Given the description of an element on the screen output the (x, y) to click on. 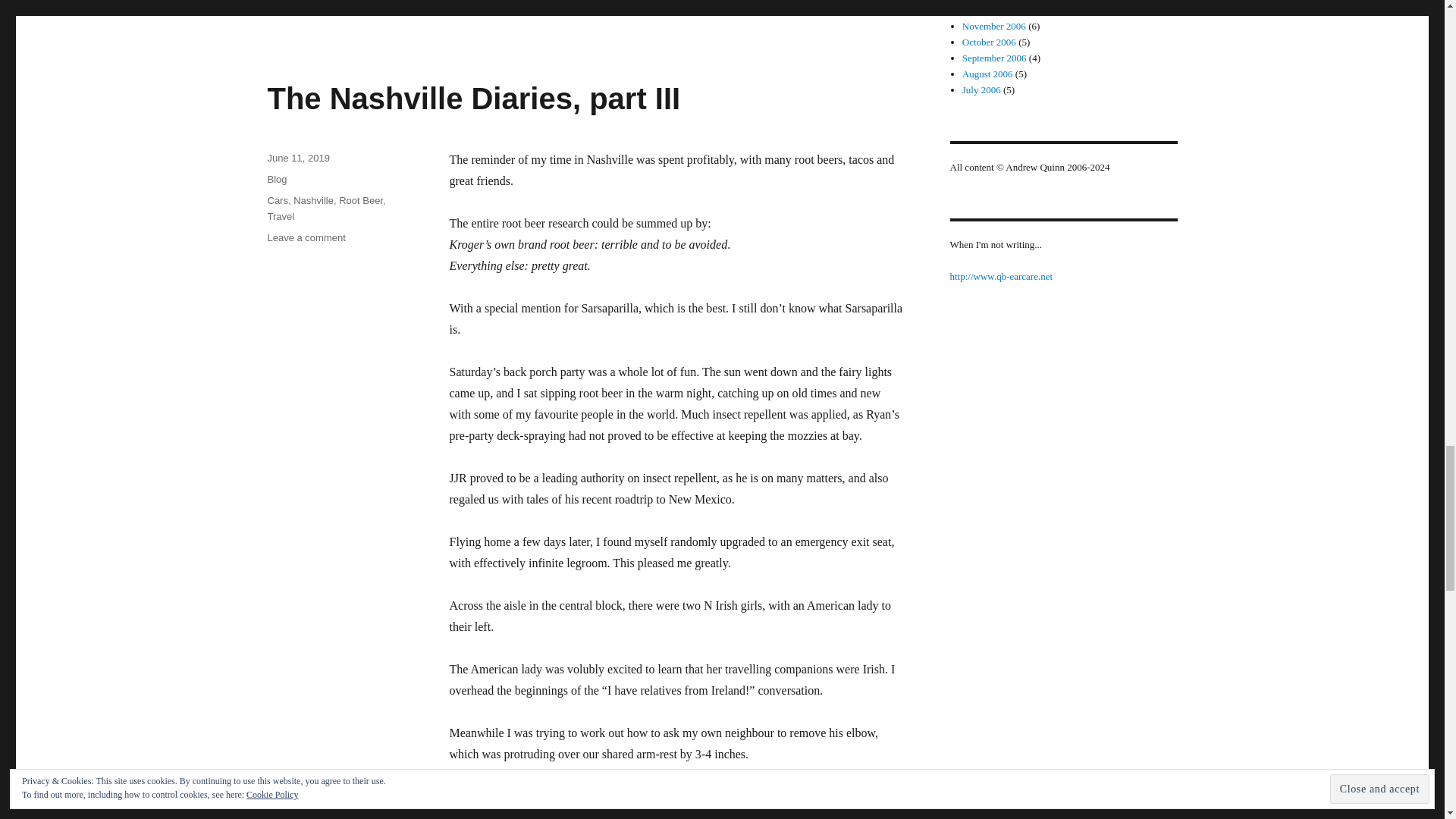
Cars (276, 200)
Root Beer (360, 200)
Travel (280, 215)
June 11, 2019 (297, 157)
The Nashville Diaries, part III (472, 98)
Blog (276, 179)
Nashville (305, 237)
